Given the description of an element on the screen output the (x, y) to click on. 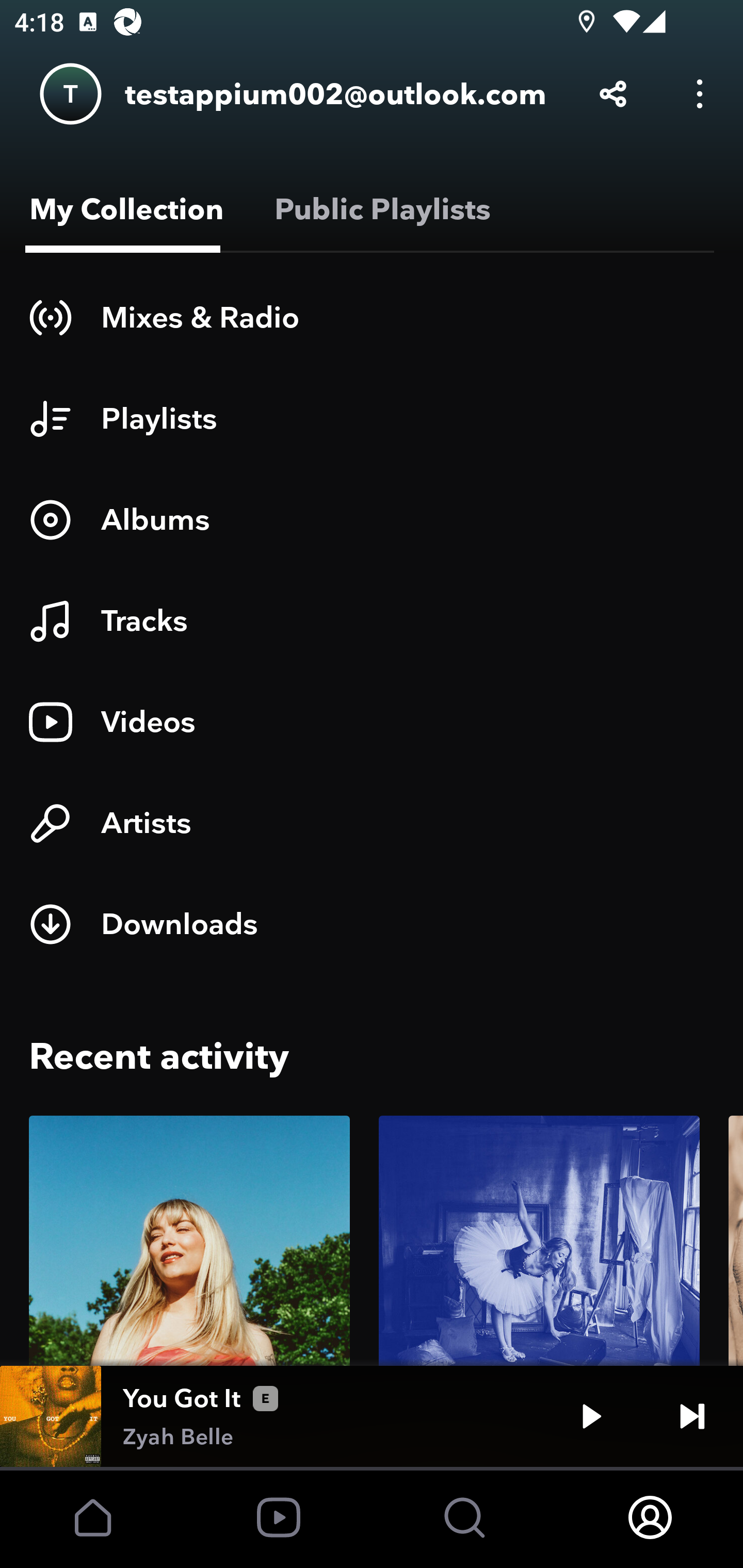
Share (612, 93)
Options (699, 93)
Public Playlists (378, 209)
Mixes & Radio (371, 317)
Playlists (371, 418)
Albums (371, 519)
Tracks (371, 620)
Videos (371, 722)
Artists (371, 823)
Downloads (371, 924)
You Got It    Zyah Belle Play (371, 1416)
Play (590, 1416)
